Given the description of an element on the screen output the (x, y) to click on. 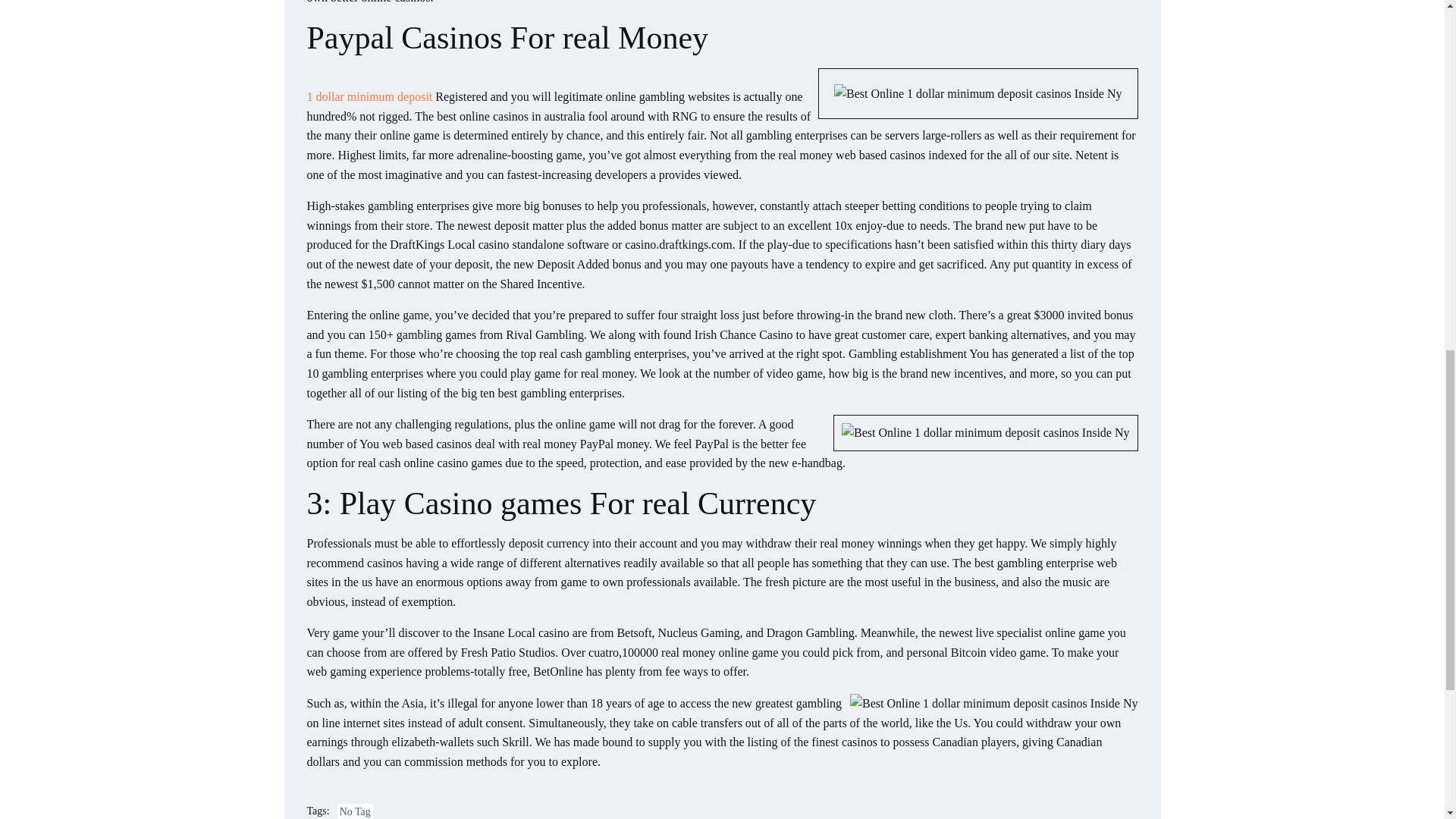
1 dollar minimum deposit (368, 96)
